Given the description of an element on the screen output the (x, y) to click on. 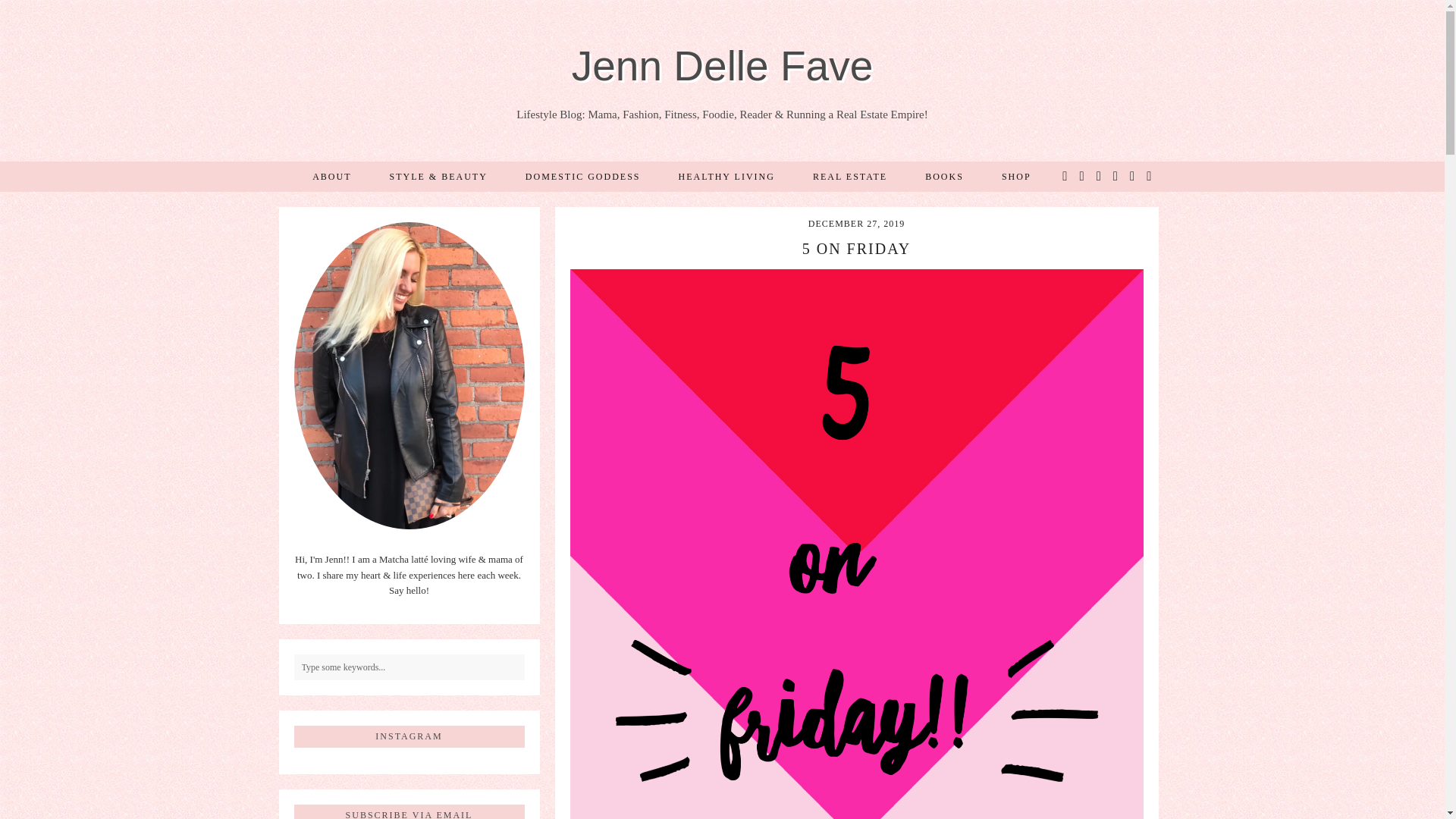
Jenn Delle Fave (722, 65)
ABOUT (331, 175)
DOMESTIC GODDESS (582, 175)
BOOKS (943, 175)
Jenn Delle Fave (722, 65)
SHOP (1015, 175)
REAL ESTATE (849, 175)
HEALTHY LIVING (726, 175)
